Given the description of an element on the screen output the (x, y) to click on. 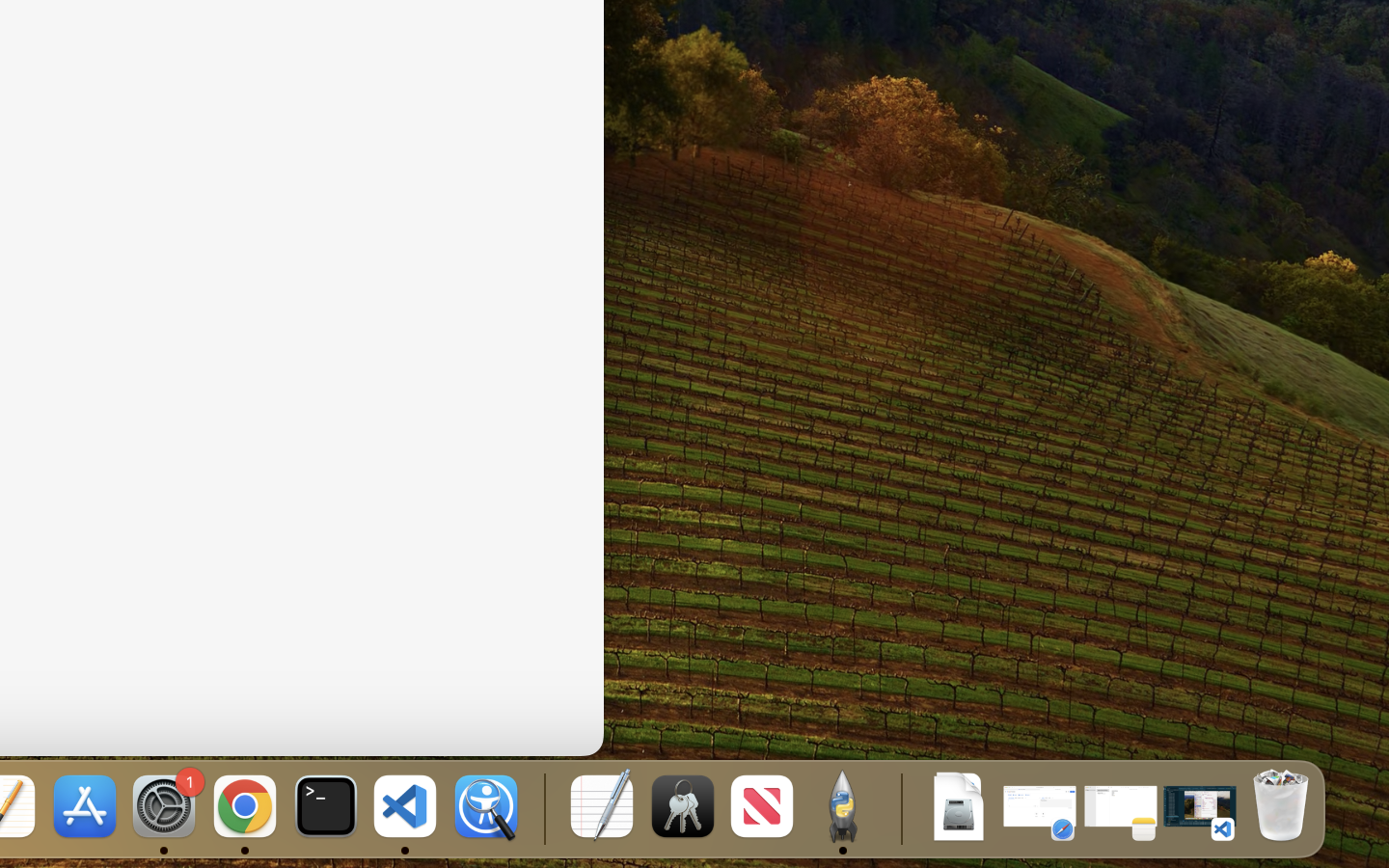
0.4285714328289032 Element type: AXDockItem (541, 807)
